Given the description of an element on the screen output the (x, y) to click on. 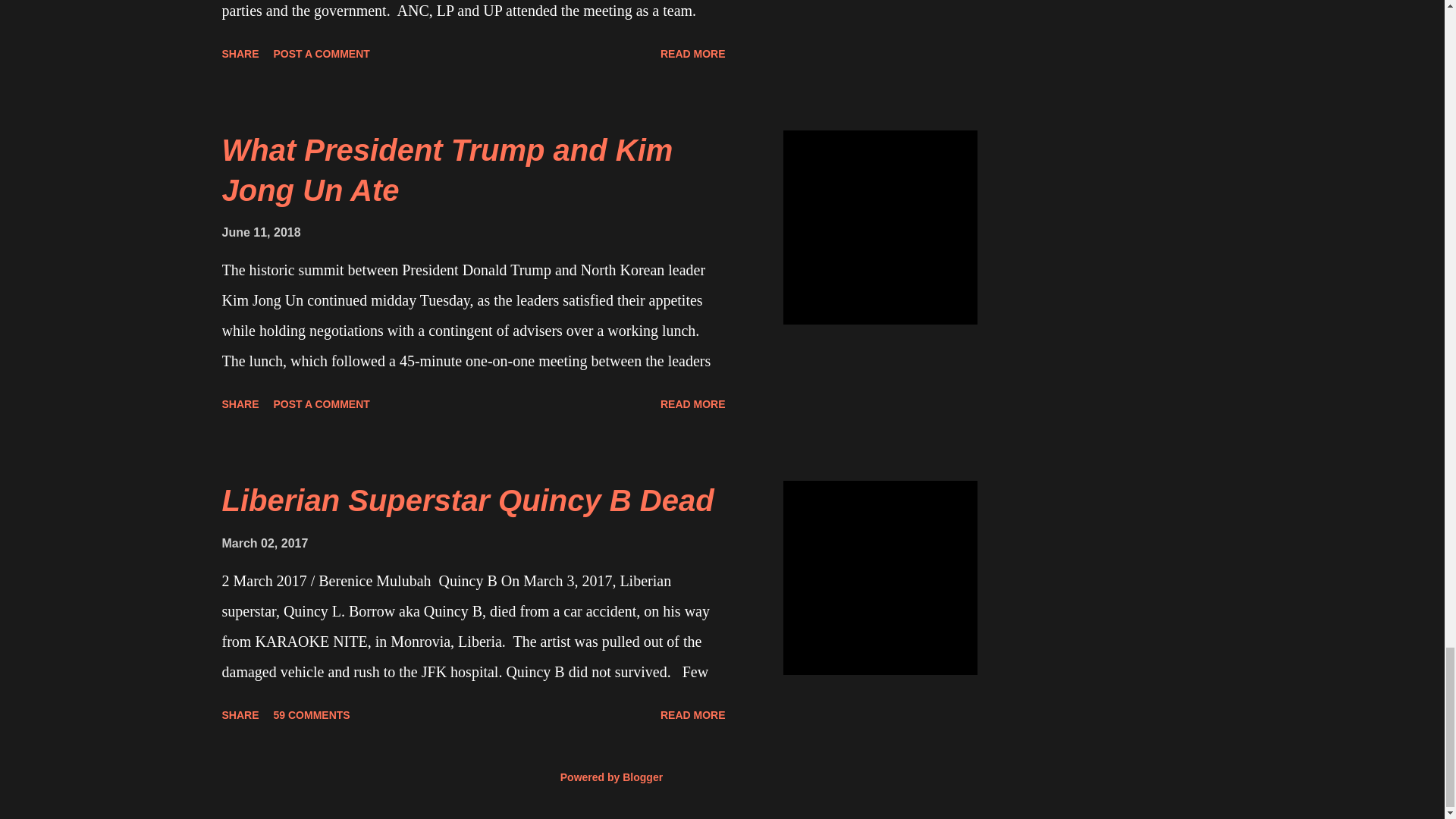
March 02, 2017 (264, 543)
SHARE (239, 404)
READ MORE (692, 53)
READ MORE (692, 714)
59 COMMENTS (311, 714)
June 11, 2018 (260, 232)
What President Trump and Kim Jong Un Ate (446, 170)
SHARE (239, 714)
READ MORE (692, 404)
POST A COMMENT (321, 404)
SHARE (239, 53)
Liberian Superstar Quincy B Dead (467, 500)
POST A COMMENT (321, 53)
